Given the description of an element on the screen output the (x, y) to click on. 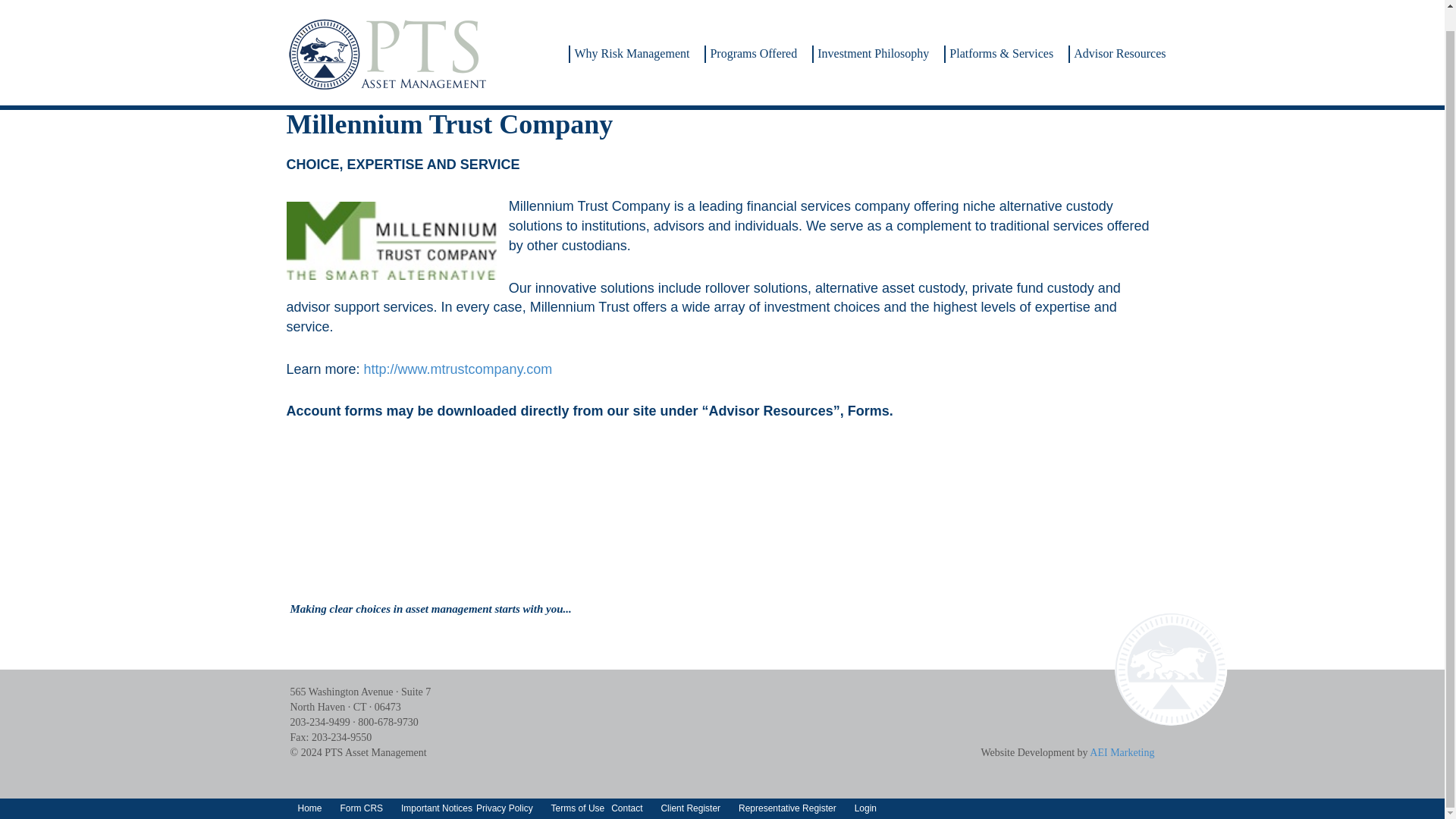
Why Risk Management (629, 49)
Programs Offered (751, 49)
Advisor Resources (1118, 49)
Investment Philosophy (870, 49)
AEI Marketing (1121, 752)
